Given the description of an element on the screen output the (x, y) to click on. 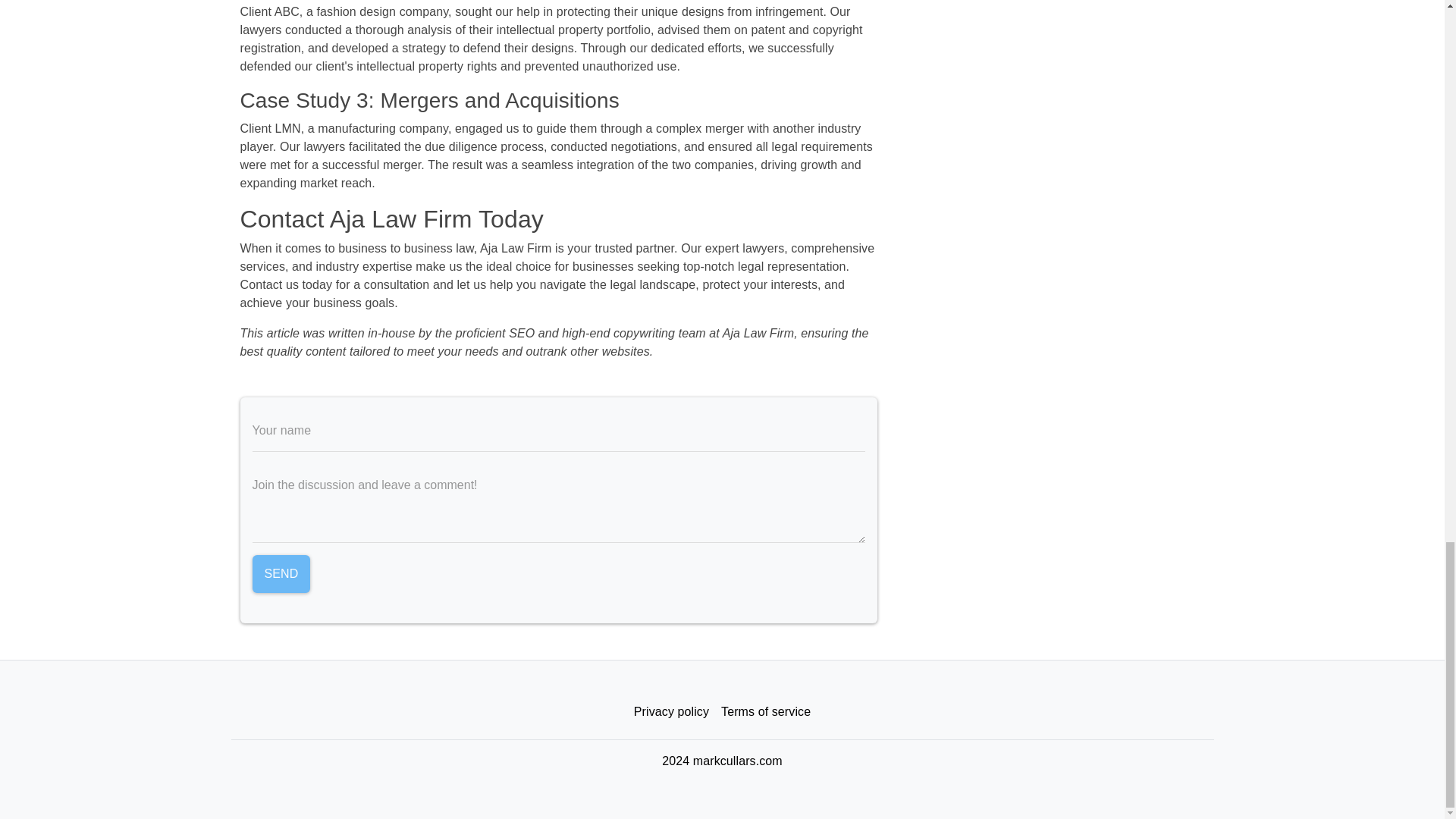
Send (280, 573)
Send (280, 573)
Privacy policy (670, 711)
Terms of service (765, 711)
